Given the description of an element on the screen output the (x, y) to click on. 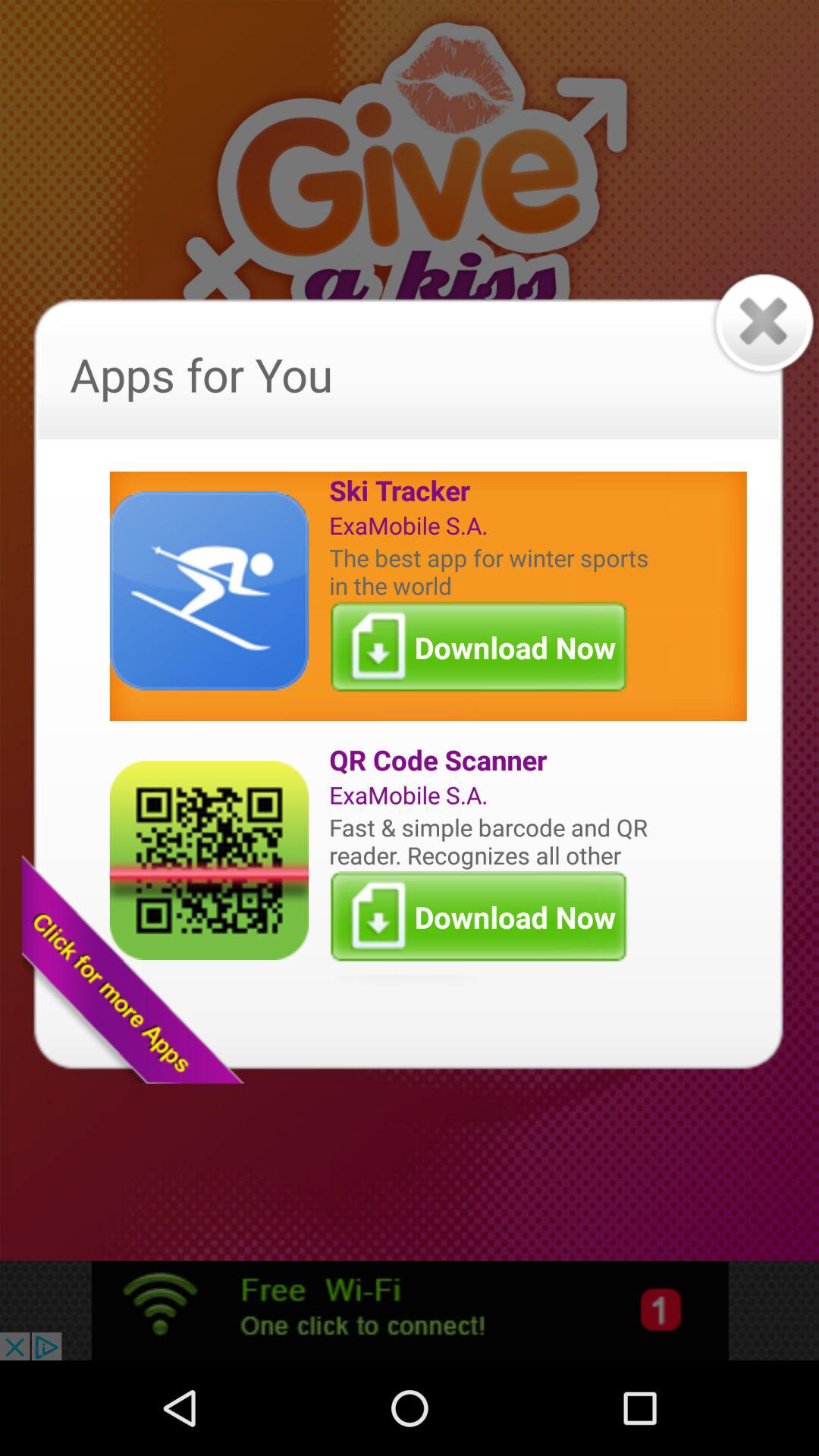
launch the qr code scanner (492, 759)
